Given the description of an element on the screen output the (x, y) to click on. 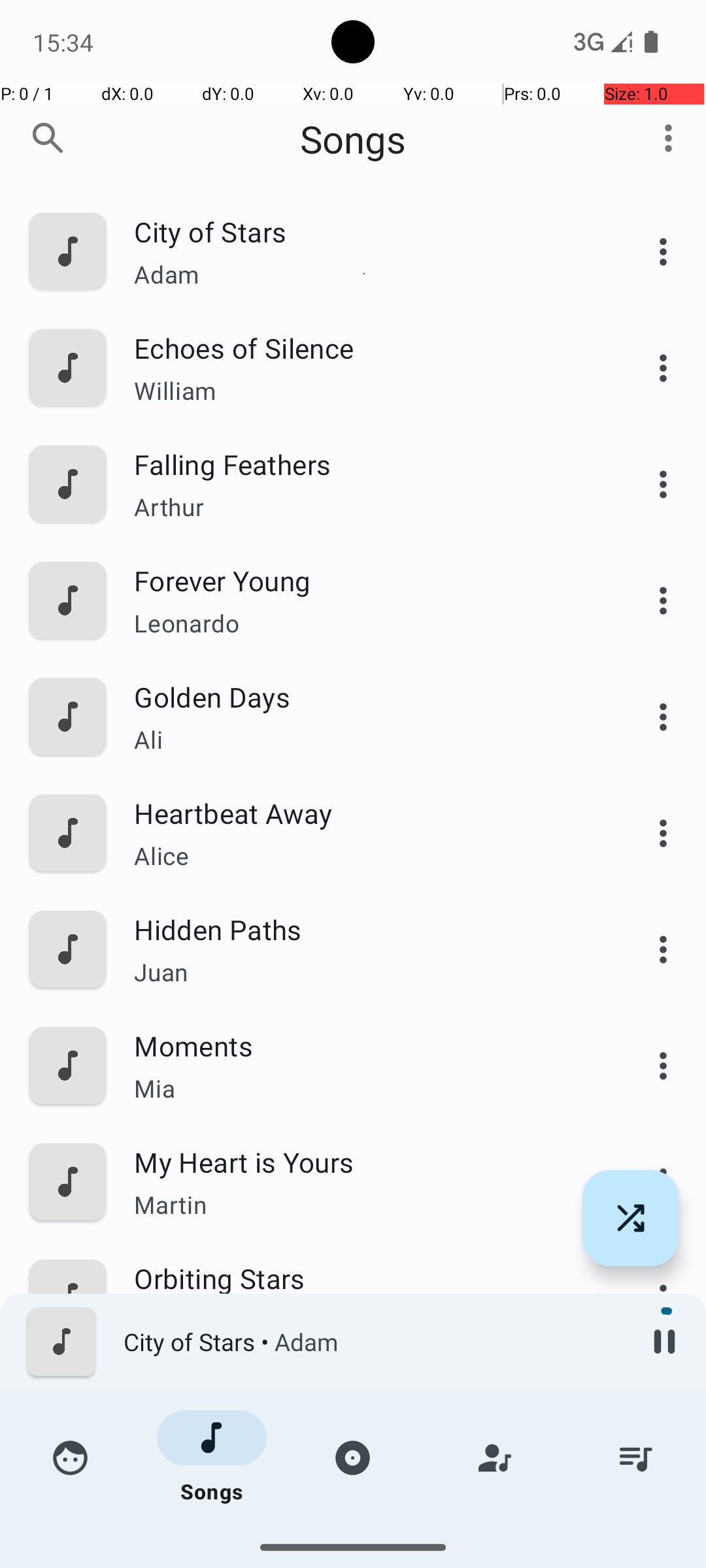
City of Stars • Adam Element type: android.widget.TextView (372, 1341)
City of Stars Element type: android.widget.TextView (363, 231)
Adam Element type: android.widget.TextView (363, 273)
Echoes of Silence Element type: android.widget.TextView (363, 347)
William Element type: android.widget.TextView (363, 390)
Falling Feathers Element type: android.widget.TextView (363, 463)
Arthur Element type: android.widget.TextView (363, 506)
Forever Young Element type: android.widget.TextView (363, 580)
Leonardo Element type: android.widget.TextView (363, 622)
Golden Days Element type: android.widget.TextView (363, 696)
Ali Element type: android.widget.TextView (363, 738)
Heartbeat Away Element type: android.widget.TextView (363, 812)
Alice Element type: android.widget.TextView (363, 855)
Hidden Paths Element type: android.widget.TextView (363, 928)
Juan Element type: android.widget.TextView (363, 971)
Moments Element type: android.widget.TextView (363, 1045)
Mia Element type: android.widget.TextView (363, 1087)
My Heart is Yours Element type: android.widget.TextView (363, 1161)
Martin Element type: android.widget.TextView (363, 1204)
Orbiting Stars Element type: android.widget.TextView (363, 1277)
Reflections Element type: android.widget.TextView (363, 1394)
Jose Element type: android.widget.TextView (363, 1436)
Serenity Now Element type: android.widget.TextView (363, 1510)
Oscar Element type: android.widget.TextView (363, 1538)
